Given the description of an element on the screen output the (x, y) to click on. 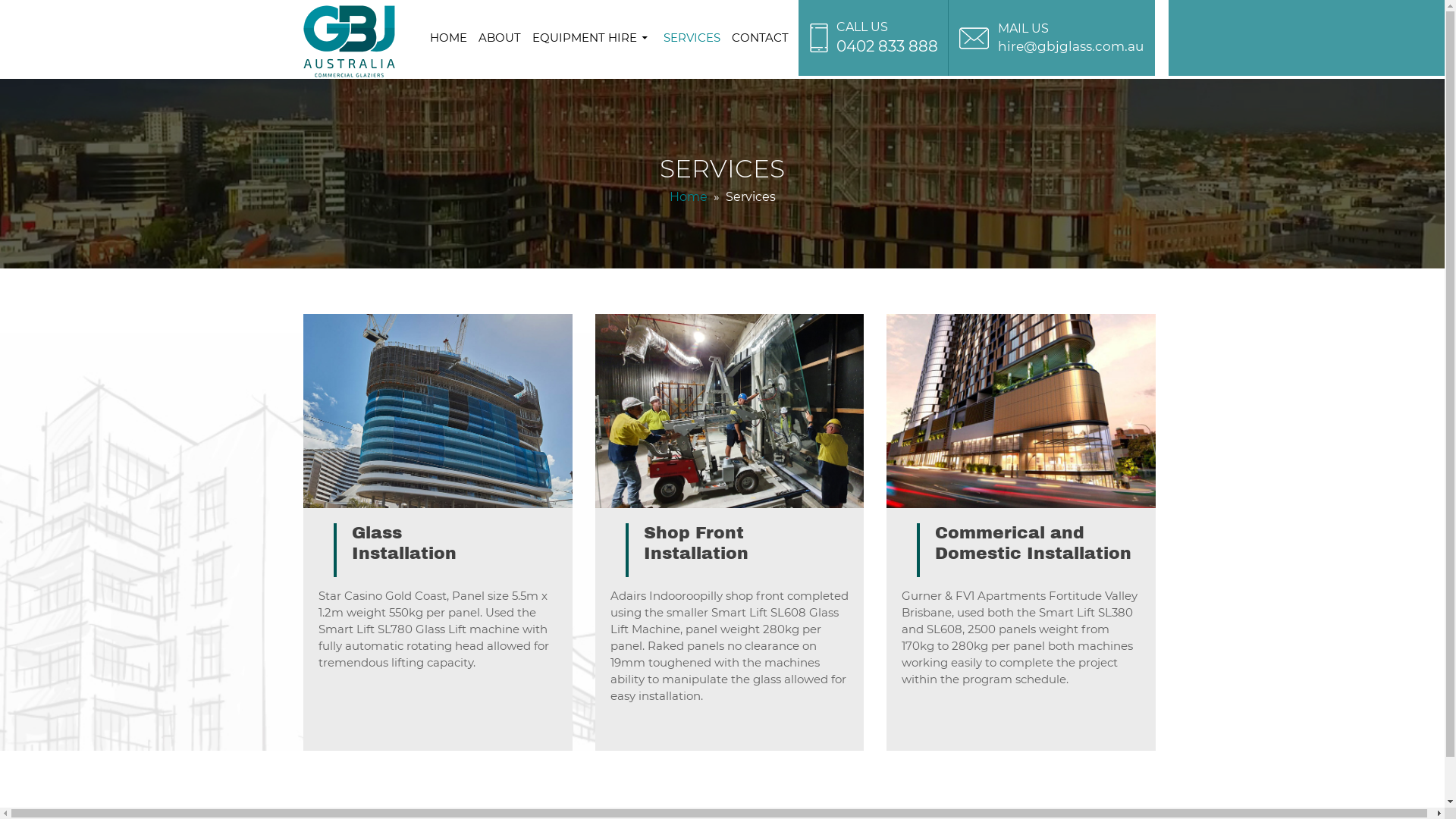
HOME Element type: text (447, 37)
ABOUT Element type: text (498, 37)
Home Element type: text (687, 196)
hire@gbjglass.com.au Element type: text (1070, 45)
CONTACT Element type: text (759, 37)
0402 833 888 Element type: text (886, 46)
SERVICES Element type: text (691, 37)
EQUIPMENT HIRE Element type: text (591, 37)
